Given the description of an element on the screen output the (x, y) to click on. 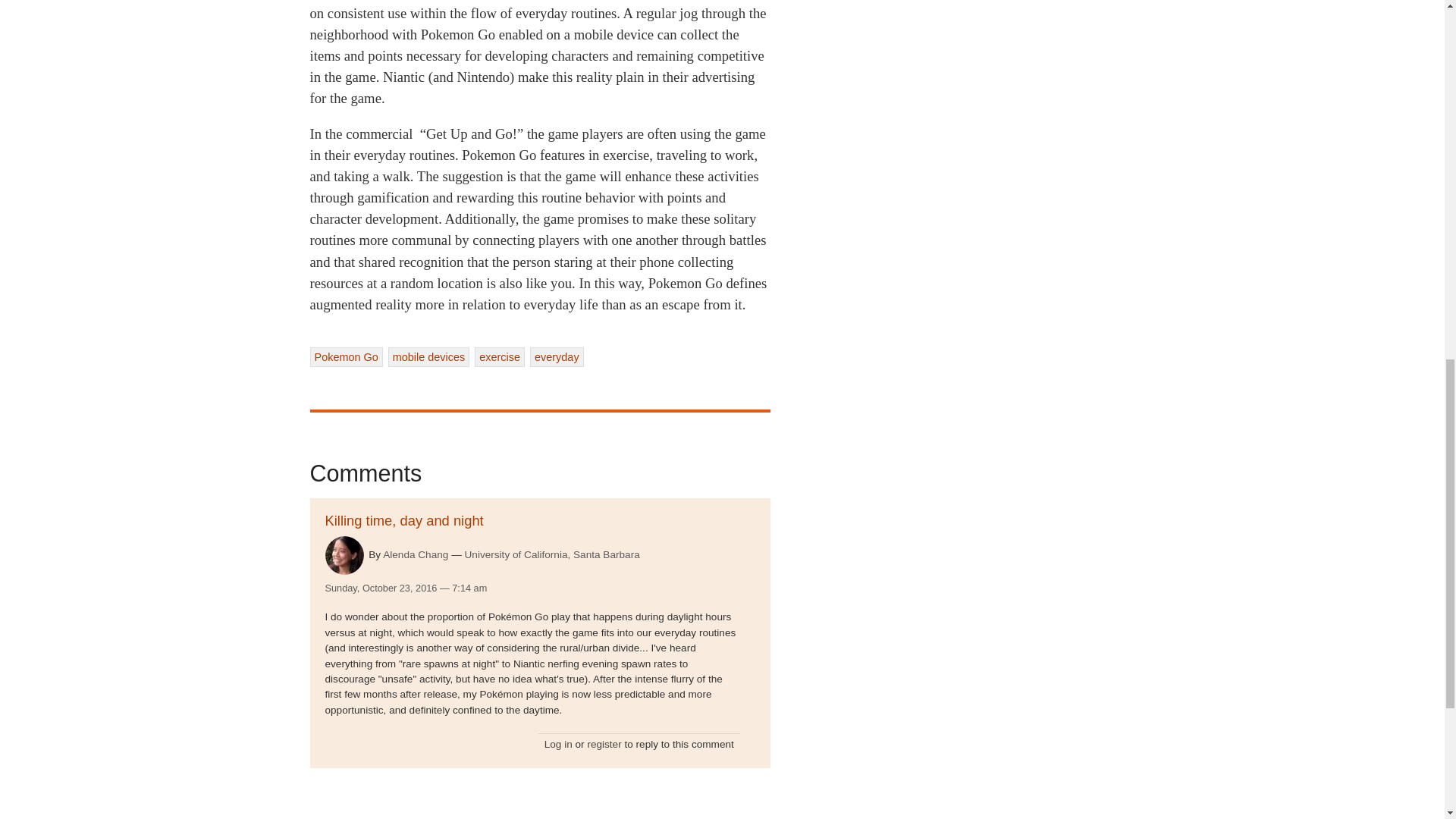
everyday (556, 356)
mobile devices (429, 356)
View user profile. (343, 555)
exercise (499, 356)
Killing time, day and night (403, 520)
User profile: Alenda Chang (415, 554)
register (603, 744)
Pokemon Go (344, 356)
Log in (558, 744)
Alenda Chang (415, 554)
University of California, Santa Barbara (552, 555)
University of California, Santa Barbara (552, 555)
